Given the description of an element on the screen output the (x, y) to click on. 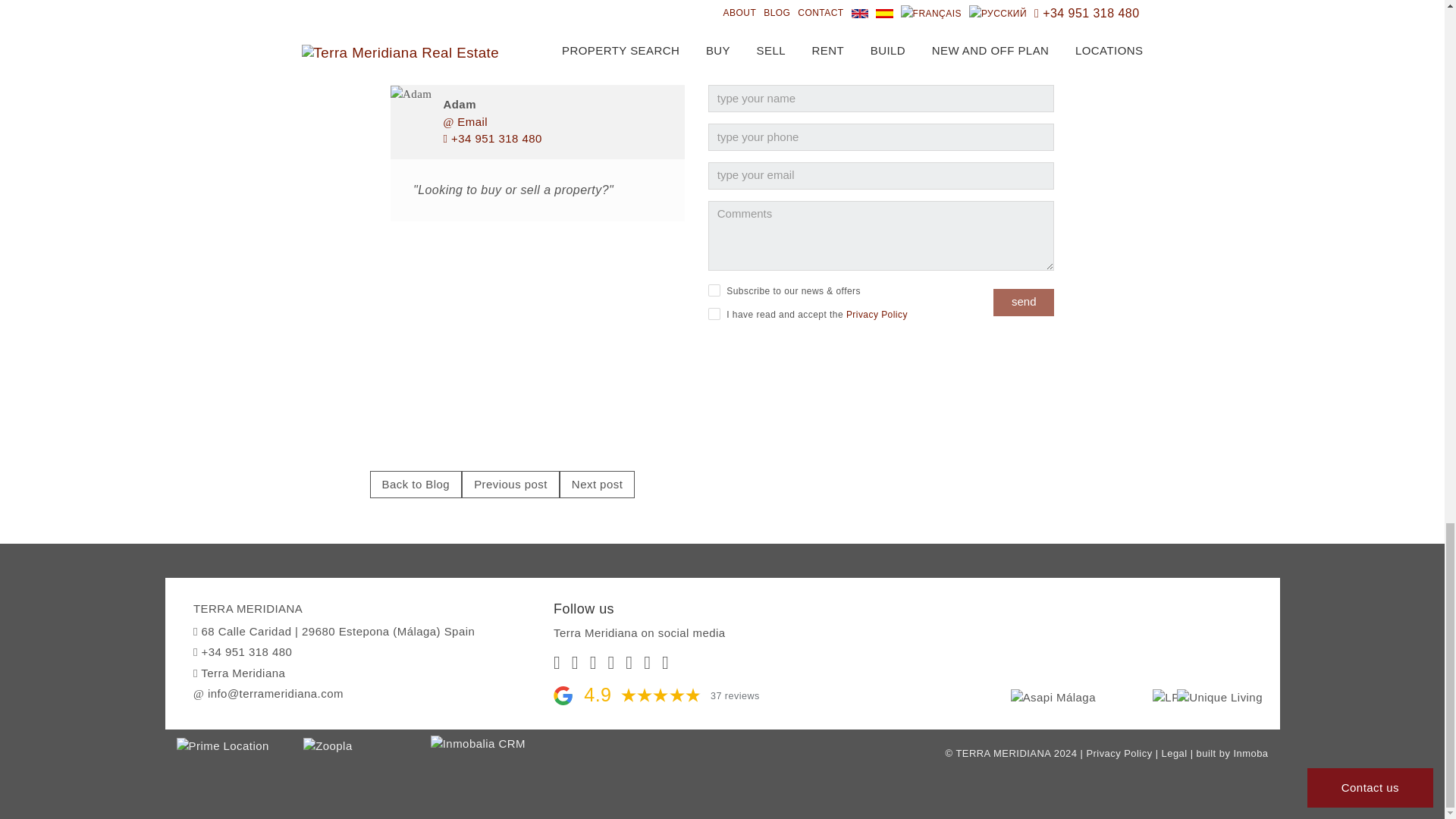
on (713, 313)
on (713, 289)
